Given the description of an element on the screen output the (x, y) to click on. 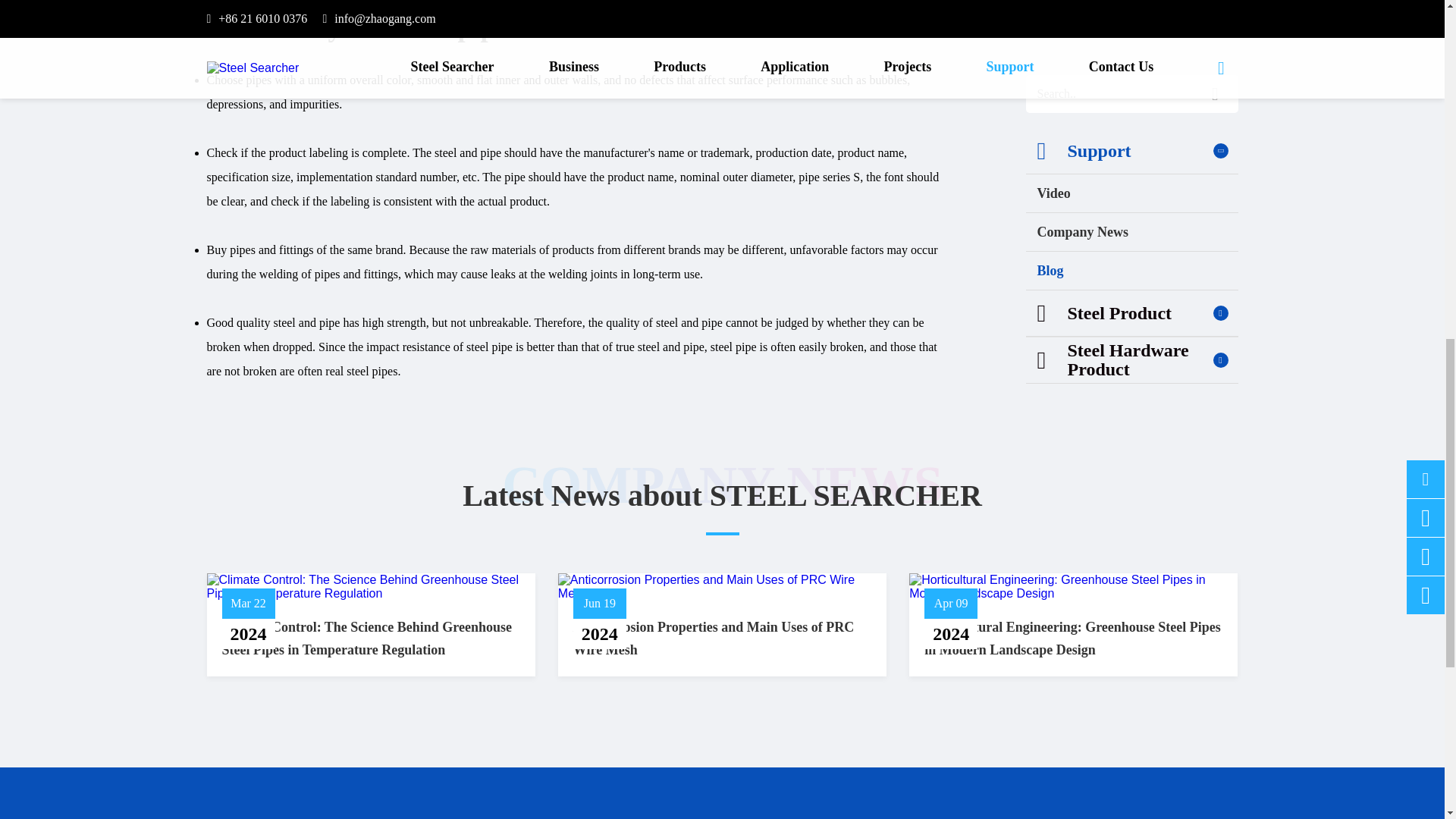
Anticorrosion Properties and Main Uses of PRC Wire Mesh (721, 586)
